Given the description of an element on the screen output the (x, y) to click on. 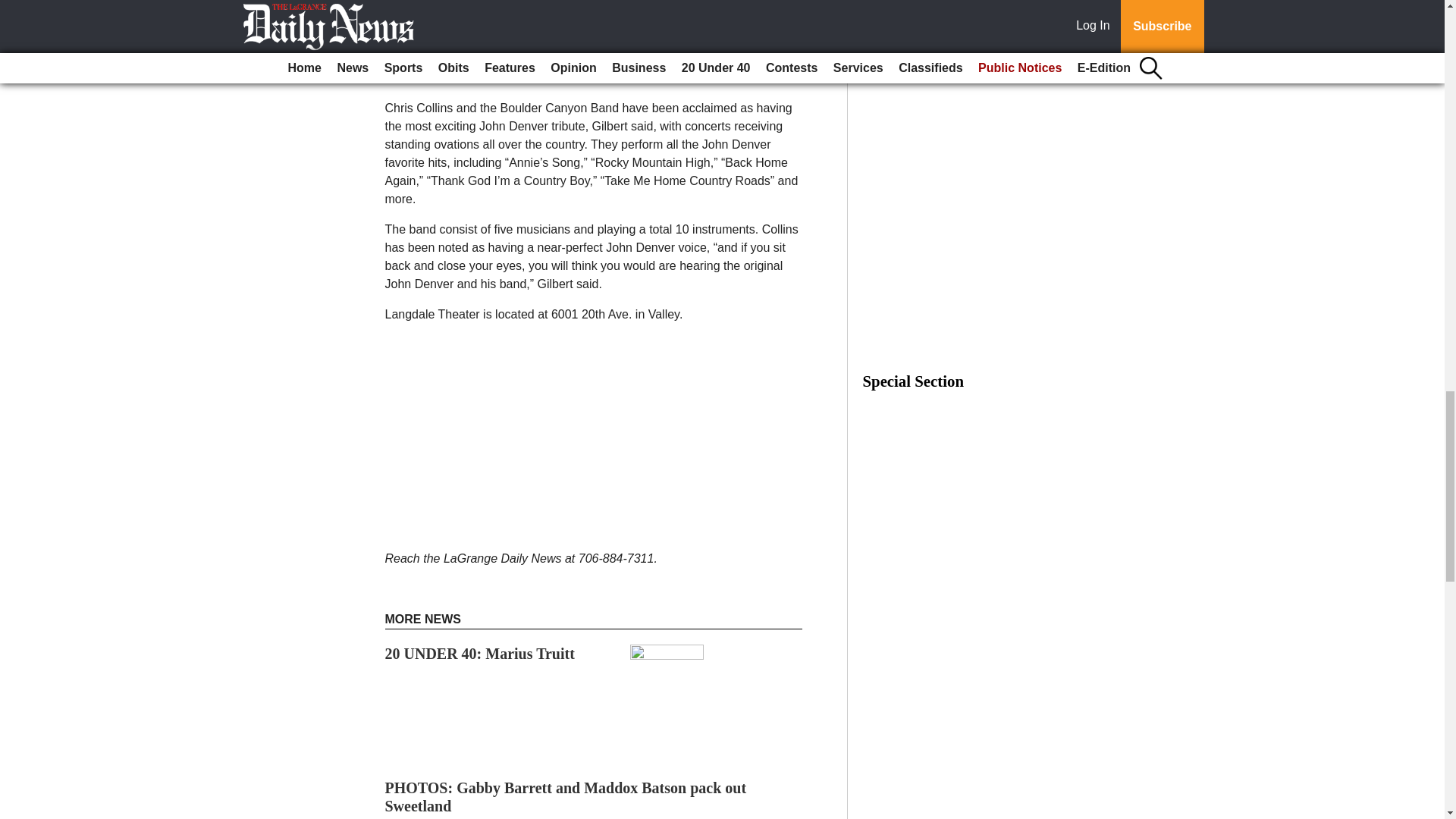
PHOTOS: Gabby Barrett and Maddox Batson pack out Sweetland (565, 796)
PHOTOS: Gabby Barrett and Maddox Batson pack out Sweetland (565, 796)
20 UNDER 40: Marius Truitt (480, 653)
20 UNDER 40: Marius Truitt (480, 653)
